Given the description of an element on the screen output the (x, y) to click on. 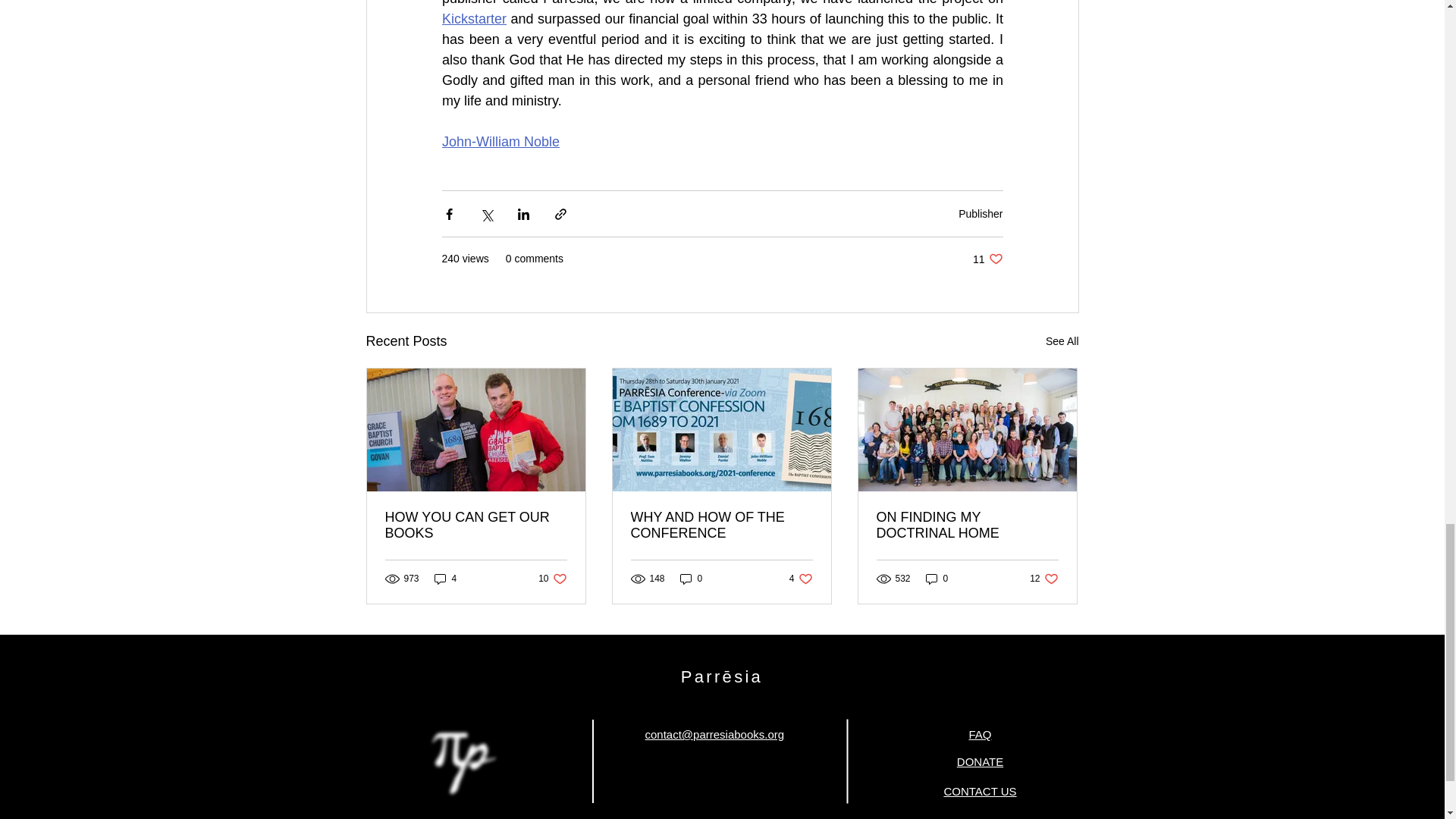
HOW YOU CAN GET OUR BOOKS (476, 525)
Kickstarter (473, 18)
4 (445, 578)
John-William Noble (987, 258)
Publisher (500, 141)
See All (980, 214)
